Given the description of an element on the screen output the (x, y) to click on. 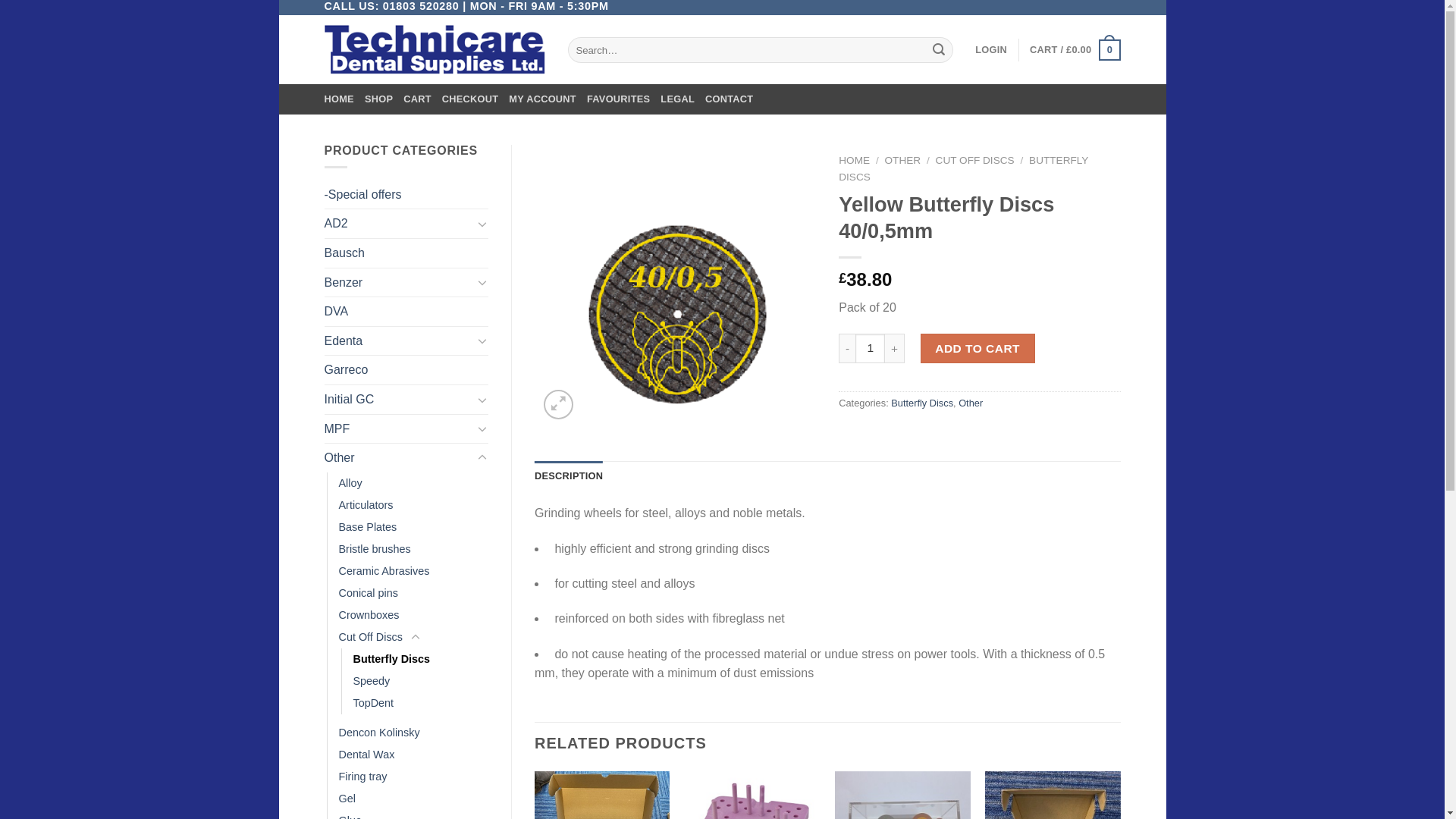
DESCRIPTION (568, 476)
yellow bf (674, 284)
CONTACT (728, 99)
CHECKOUT (470, 99)
FAVOURITES (617, 99)
HOME (853, 160)
MY ACCOUNT (542, 99)
LEGAL (677, 99)
SHOP (379, 99)
HOME (338, 99)
Technicare Dental - Mail order dental supplies store (434, 50)
Qty (870, 348)
1 (870, 348)
CART (416, 99)
